Given the description of an element on the screen output the (x, y) to click on. 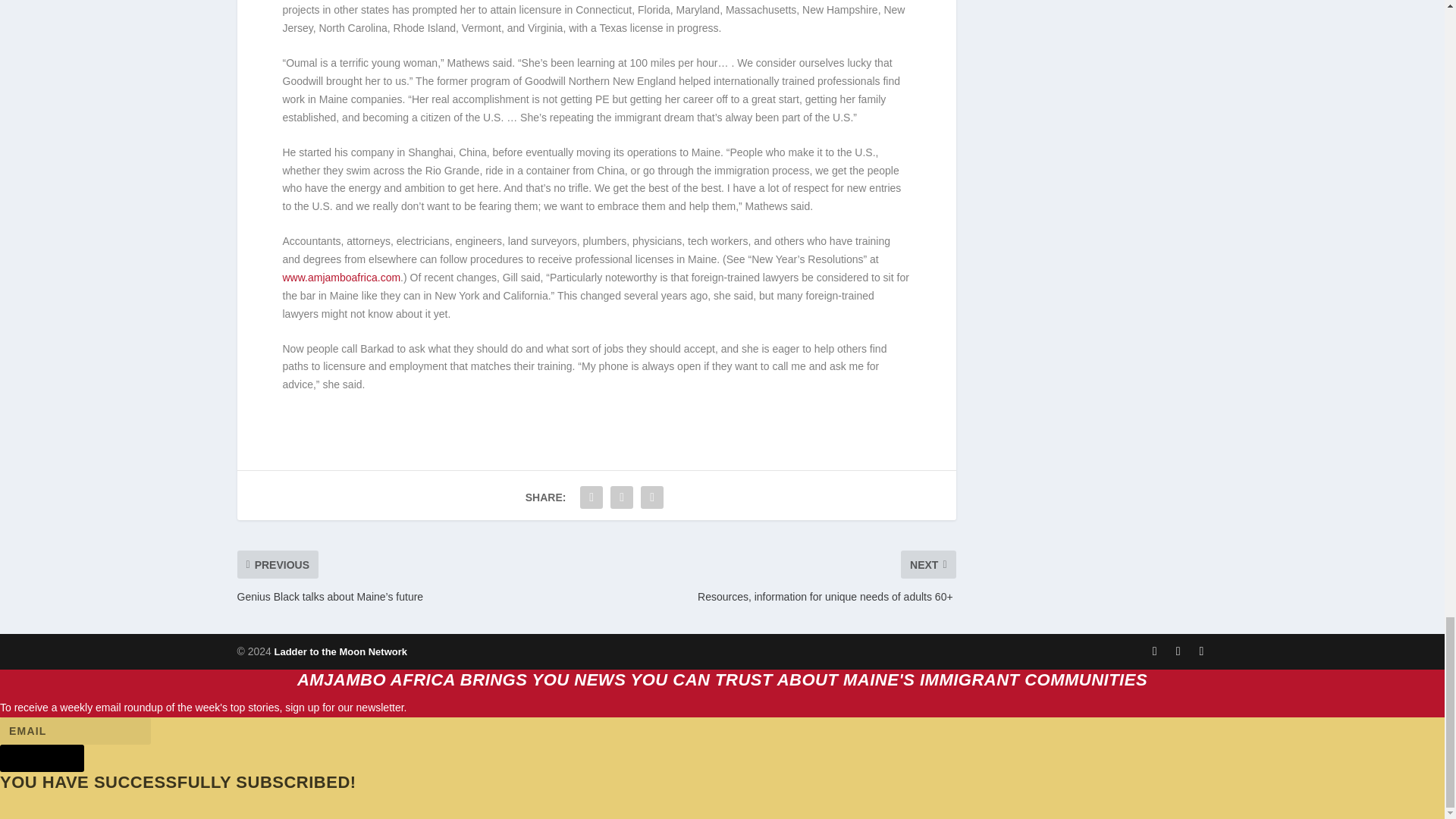
Ladder to the Moon Network (338, 651)
